Given the description of an element on the screen output the (x, y) to click on. 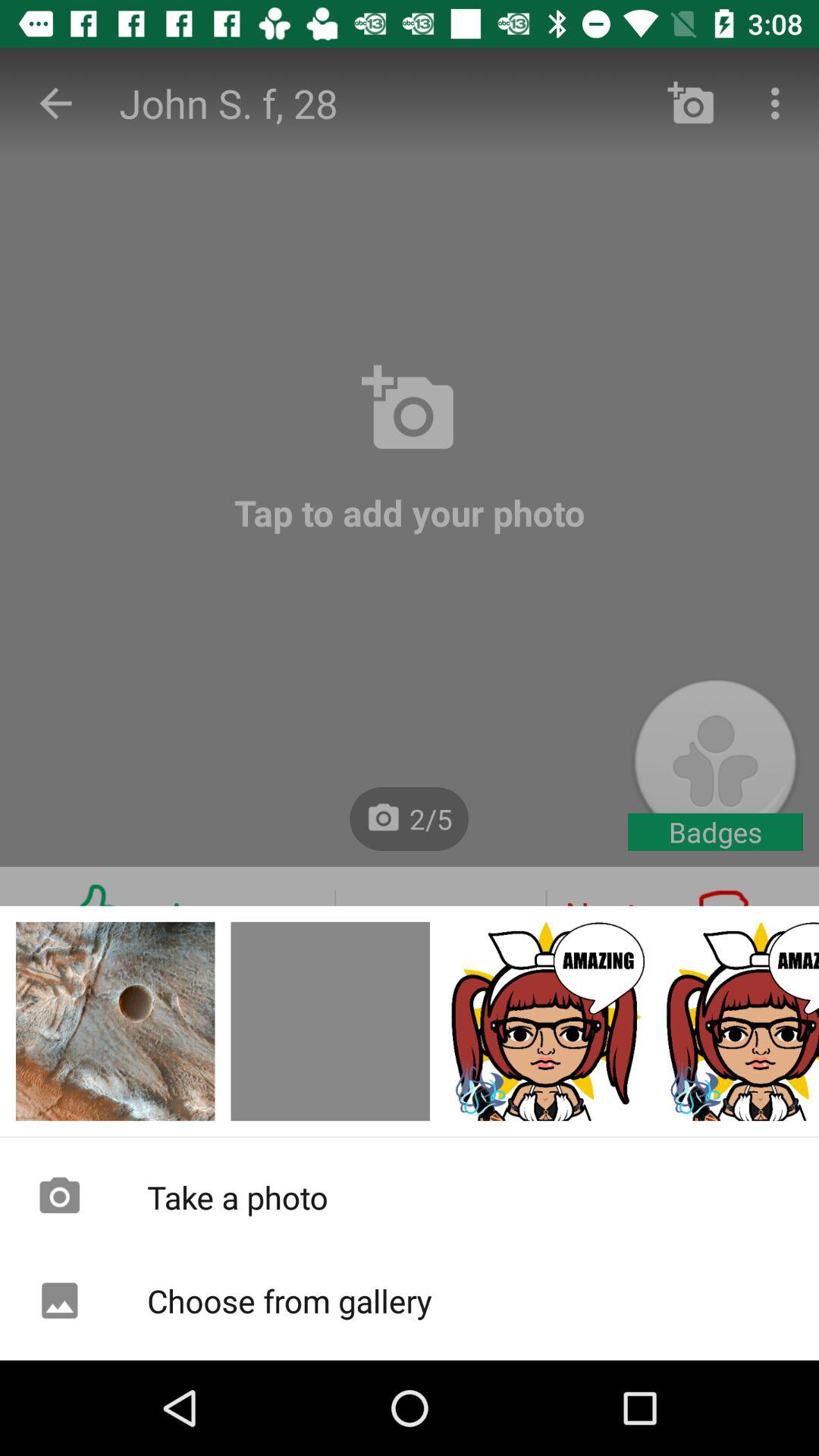
photo (114, 1021)
